Given the description of an element on the screen output the (x, y) to click on. 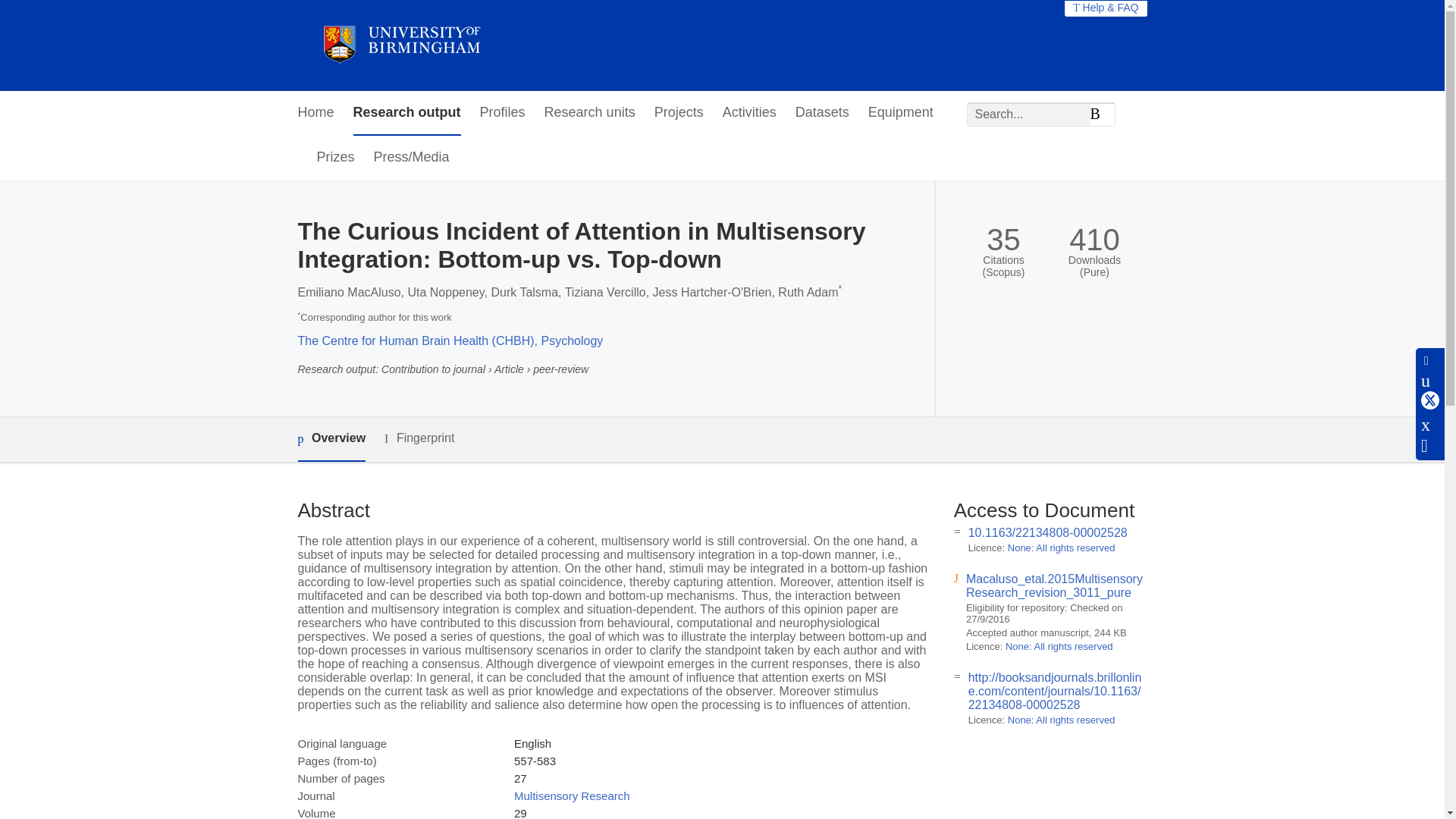
None: All rights reserved (1061, 547)
University of Birmingham Home (401, 45)
Research output (407, 112)
None: All rights reserved (1059, 645)
Profiles (502, 112)
Overview (331, 438)
Projects (678, 112)
Research units (589, 112)
Equipment (900, 112)
Fingerprint (419, 438)
